Given the description of an element on the screen output the (x, y) to click on. 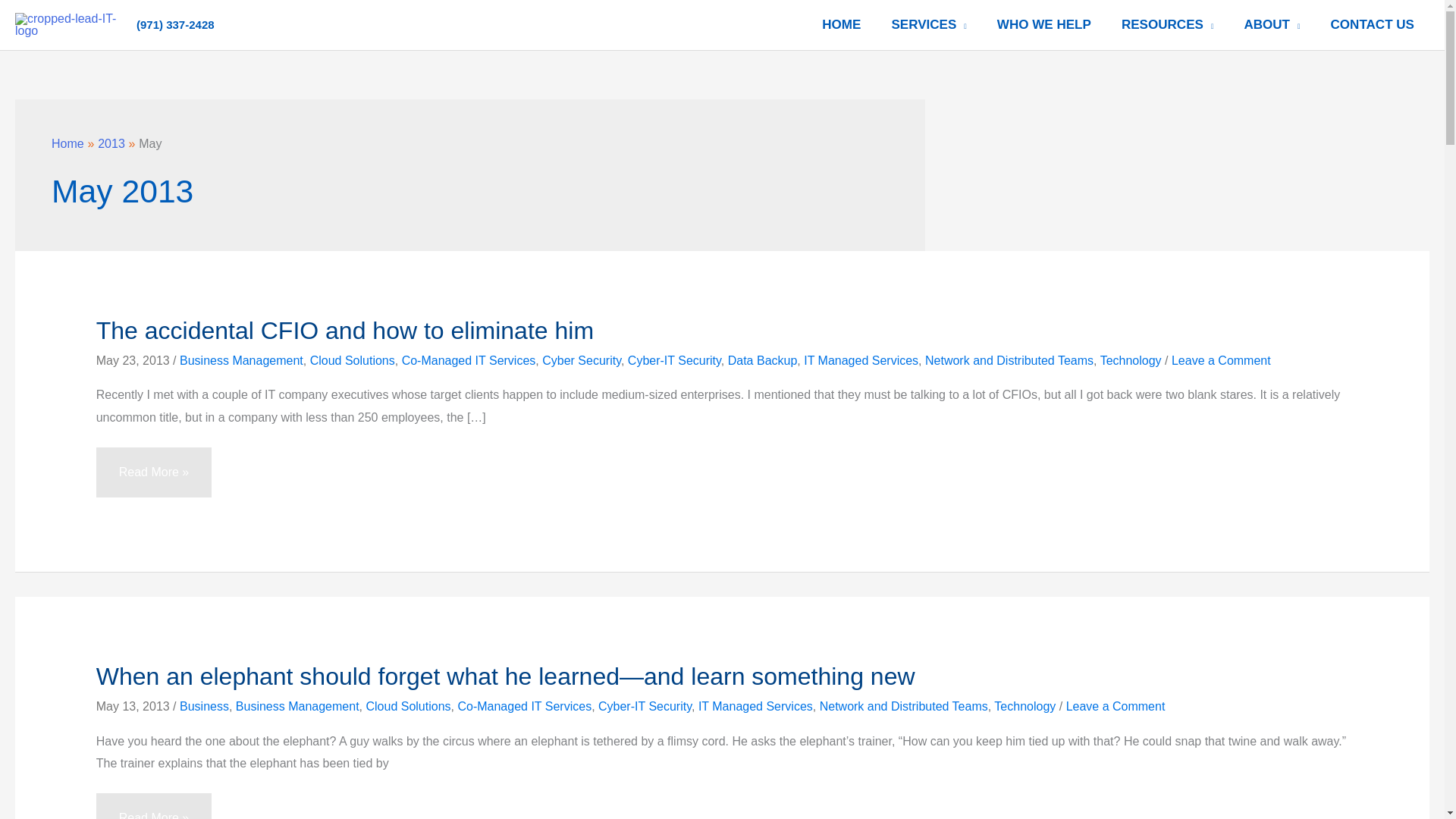
CONTACT US (1372, 24)
HOME (841, 24)
RESOURCES (1167, 24)
SERVICES (928, 24)
ABOUT (1271, 24)
WHO WE HELP (1043, 24)
